Given the description of an element on the screen output the (x, y) to click on. 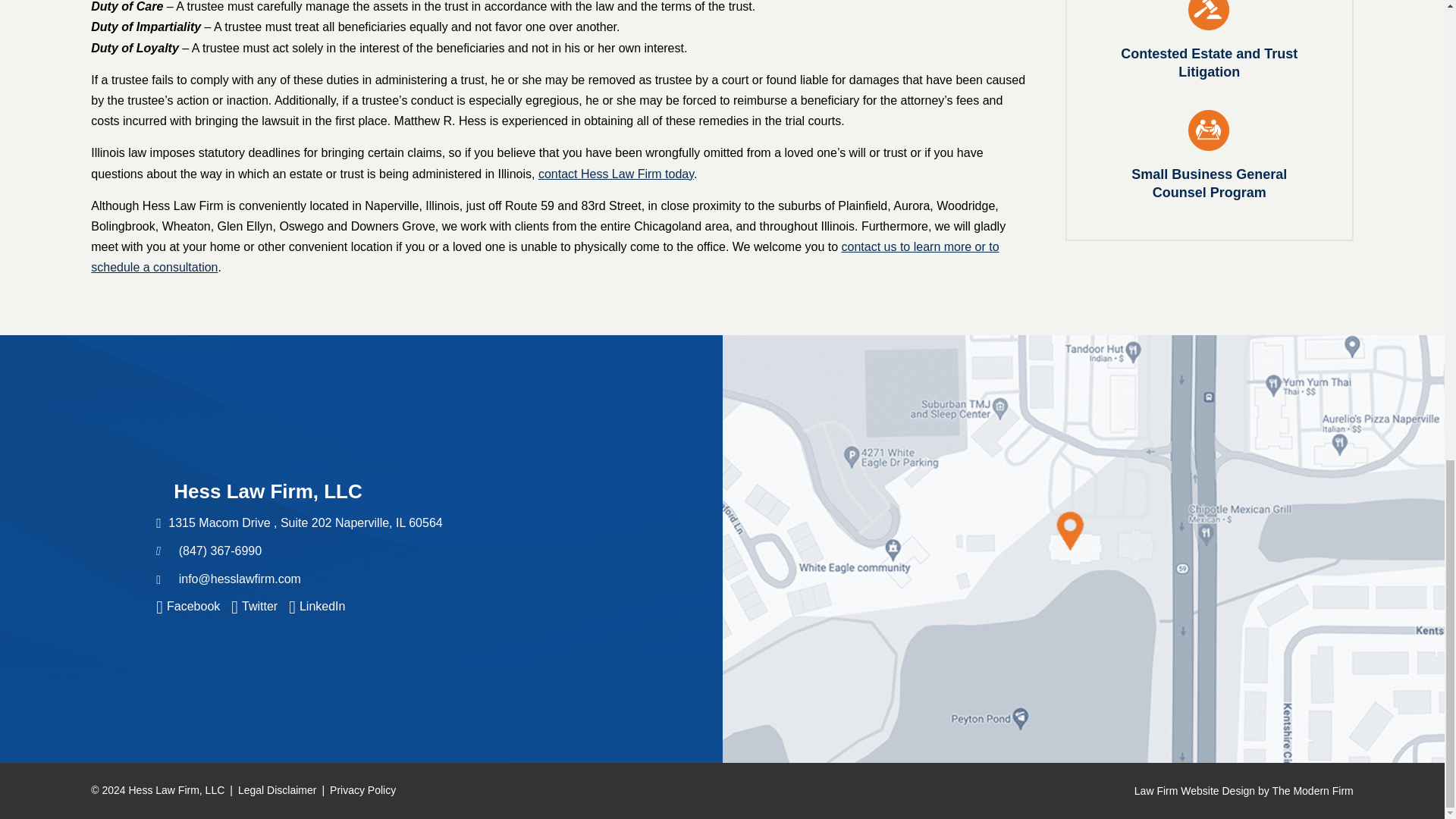
Disclaimer (276, 789)
Read more about Small Business General Counsel Program (1209, 152)
Email (240, 578)
Read more about Contested Estate and Trust Litigation (1209, 40)
Law Firm Website Design (1244, 790)
